Given the description of an element on the screen output the (x, y) to click on. 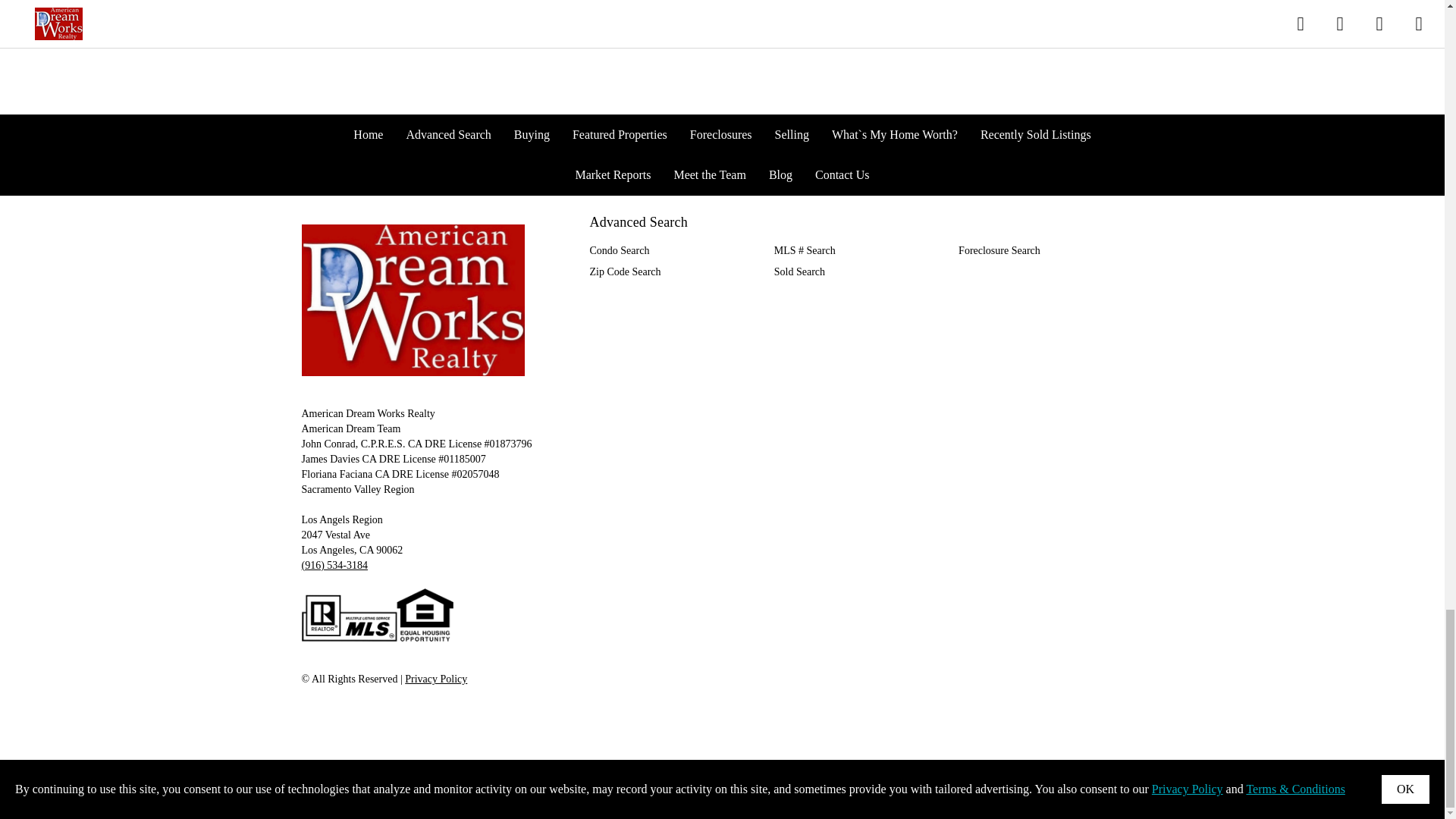
MLS Logo (376, 615)
Logo (412, 299)
Phone Number (334, 564)
